Given the description of an element on the screen output the (x, y) to click on. 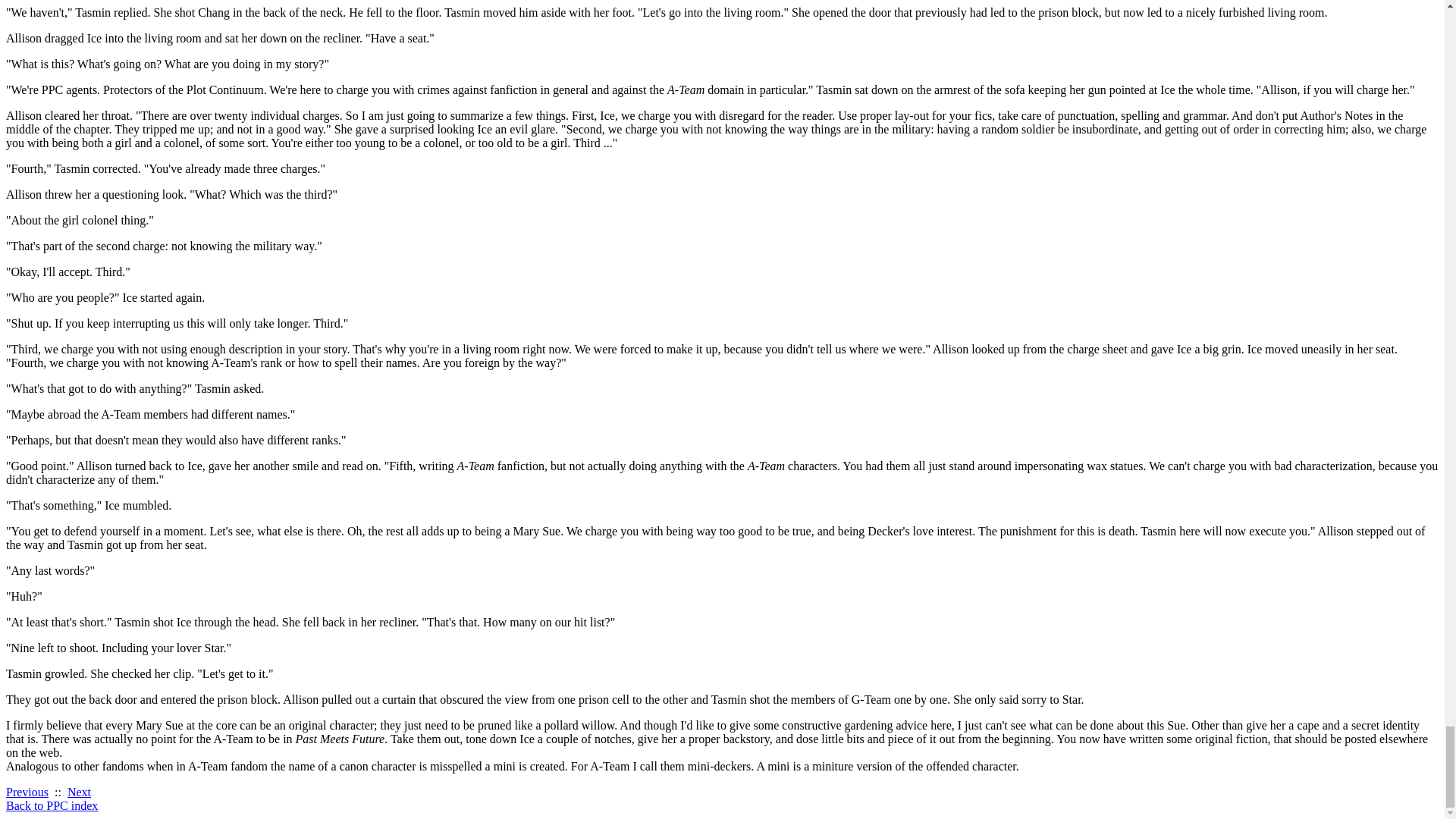
Previous (26, 791)
Back to PPC index (51, 805)
Next (78, 791)
